Given the description of an element on the screen output the (x, y) to click on. 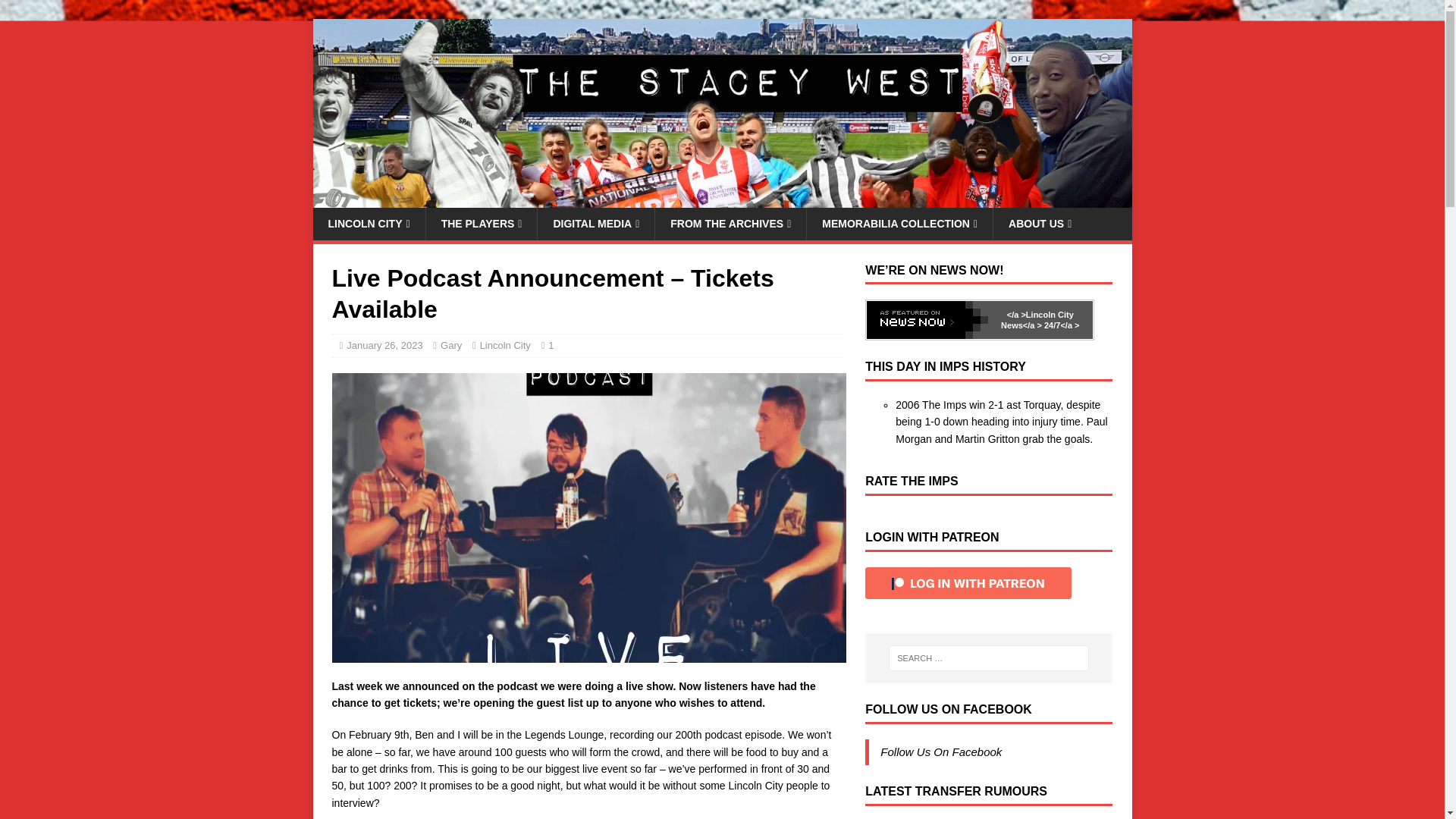
LINCOLN CITY (369, 223)
FROM THE ARCHIVES (729, 223)
Click here for more Lincoln City news from NewsNow (1016, 314)
Click here for more Lincoln City news from NewsNow (1037, 320)
The Stacey West (722, 199)
Click here for more Lincoln City news from NewsNow (1061, 325)
THE PLAYERS (481, 223)
DIGITAL MEDIA (595, 223)
Click here for more Lincoln City news from NewsNow (927, 320)
